Given the description of an element on the screen output the (x, y) to click on. 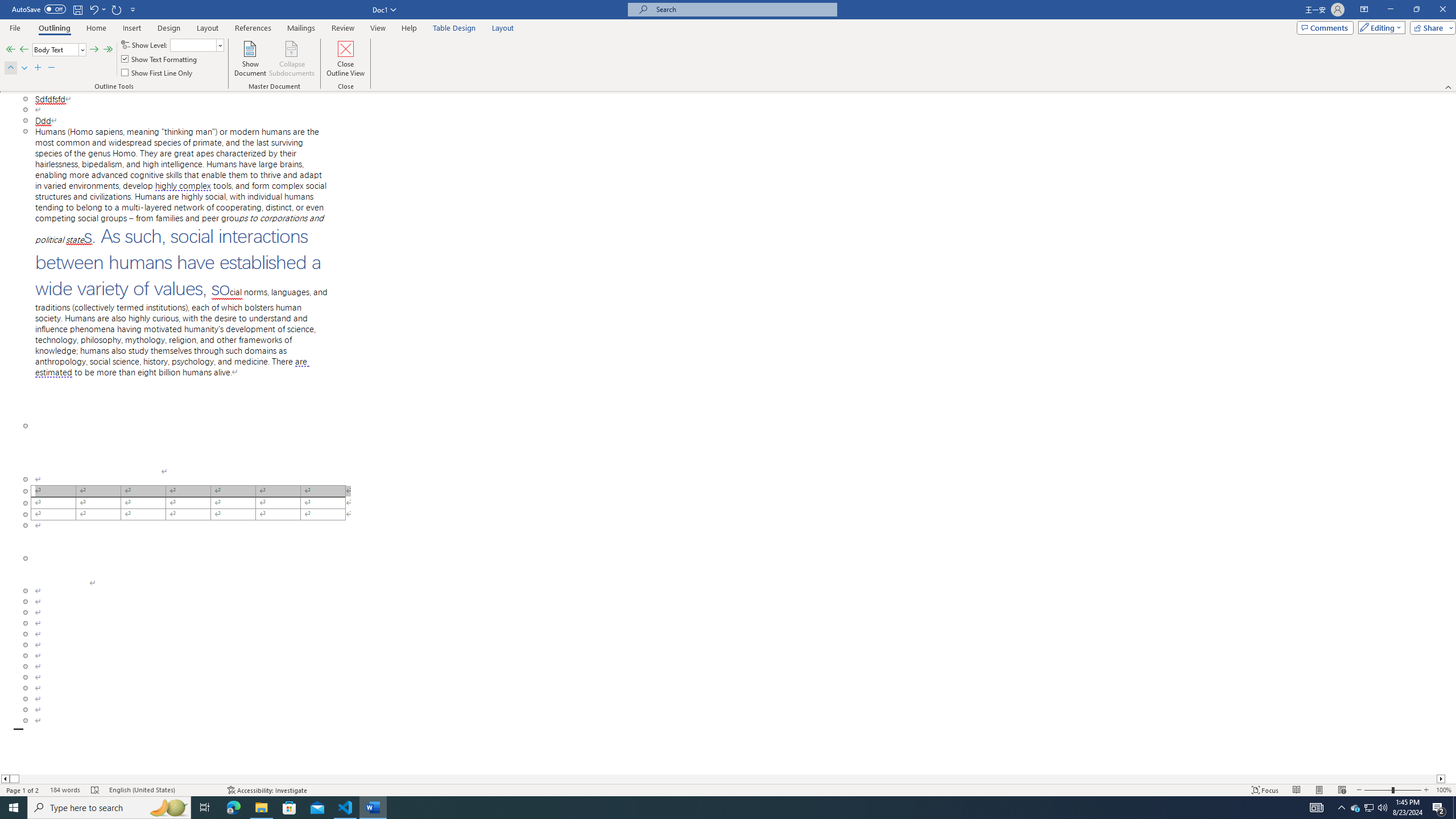
File Tab (15, 27)
Quick Access Toolbar (74, 9)
Help (409, 28)
Show Document (249, 58)
Minimize (1390, 9)
Design (168, 28)
Table Design (454, 28)
References (253, 28)
Insert (132, 28)
Column left (5, 778)
Read Mode (1296, 790)
Zoom In (1426, 790)
Review (342, 28)
Move Down (23, 67)
